Given the description of an element on the screen output the (x, y) to click on. 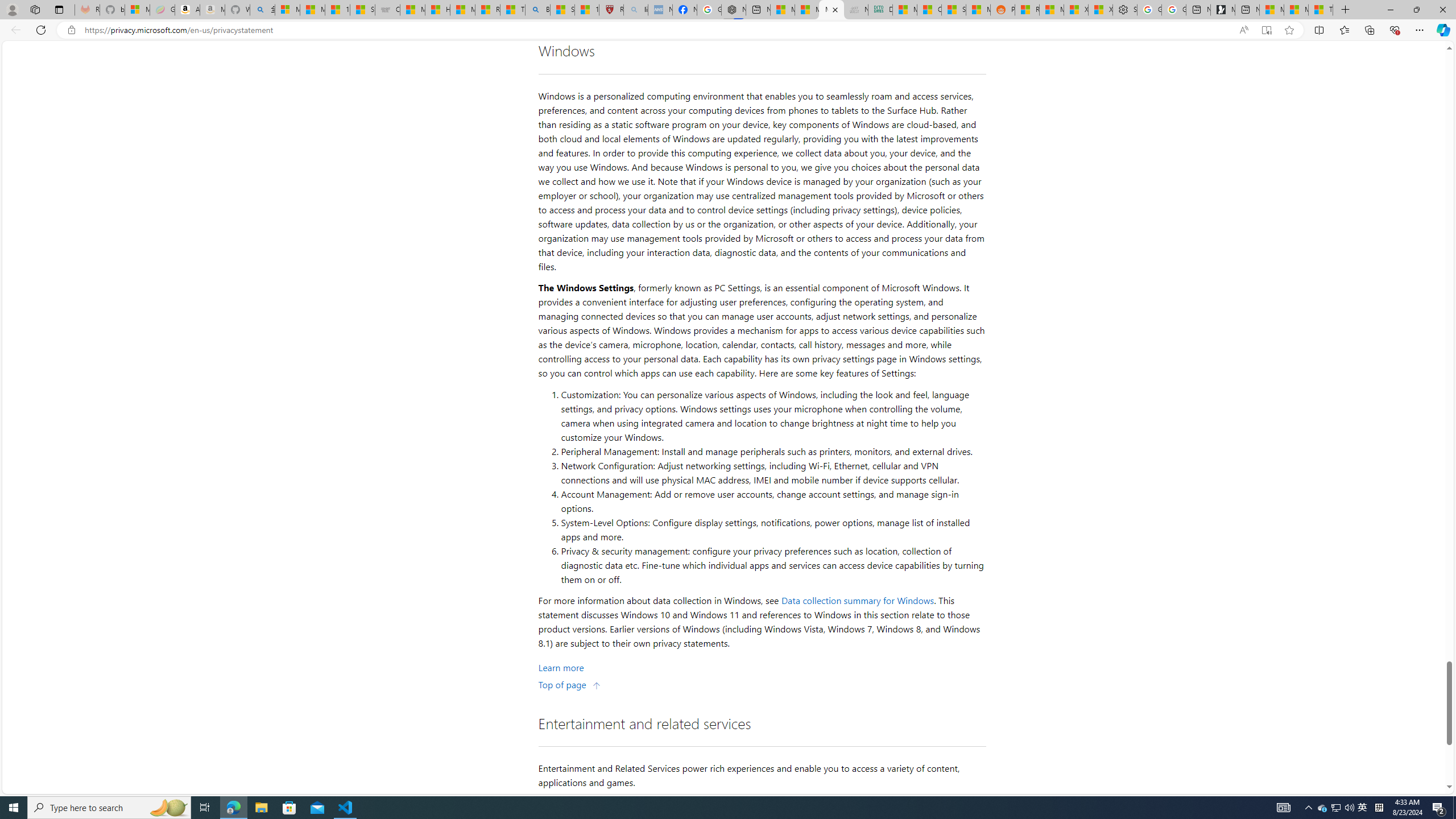
Stocks - MSN (953, 9)
Science - MSN (562, 9)
Robert H. Shmerling, MD - Harvard Health (611, 9)
Top of page (569, 684)
How I Got Rid of Microsoft Edge's Unnecessary Features (437, 9)
